Given the description of an element on the screen output the (x, y) to click on. 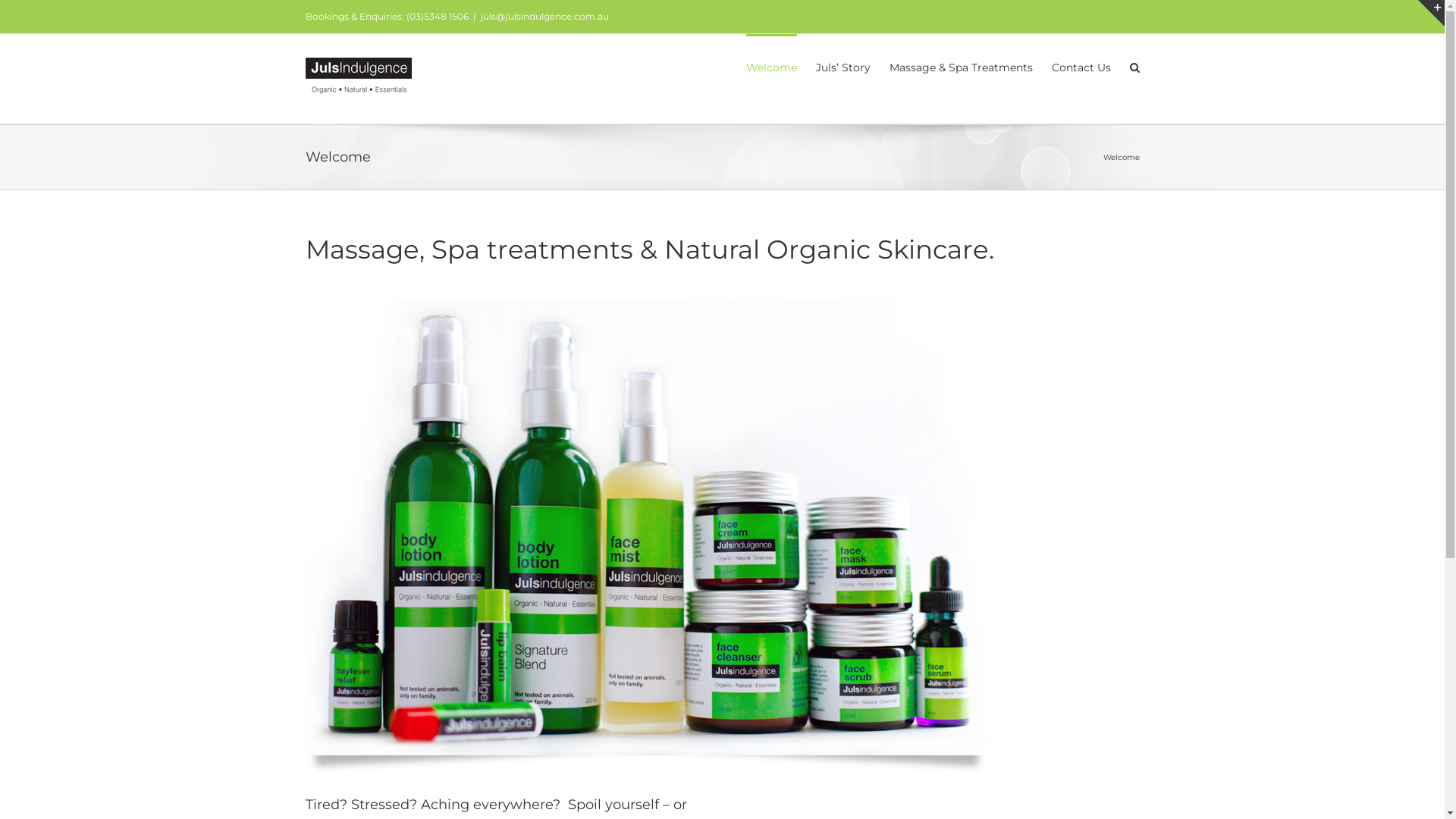
Massage & Spa Treatments Element type: text (960, 66)
Contact Us Element type: text (1080, 66)
Welcome Element type: text (771, 66)
juls@julsindulgence.com.au Element type: text (544, 15)
